Given the description of an element on the screen output the (x, y) to click on. 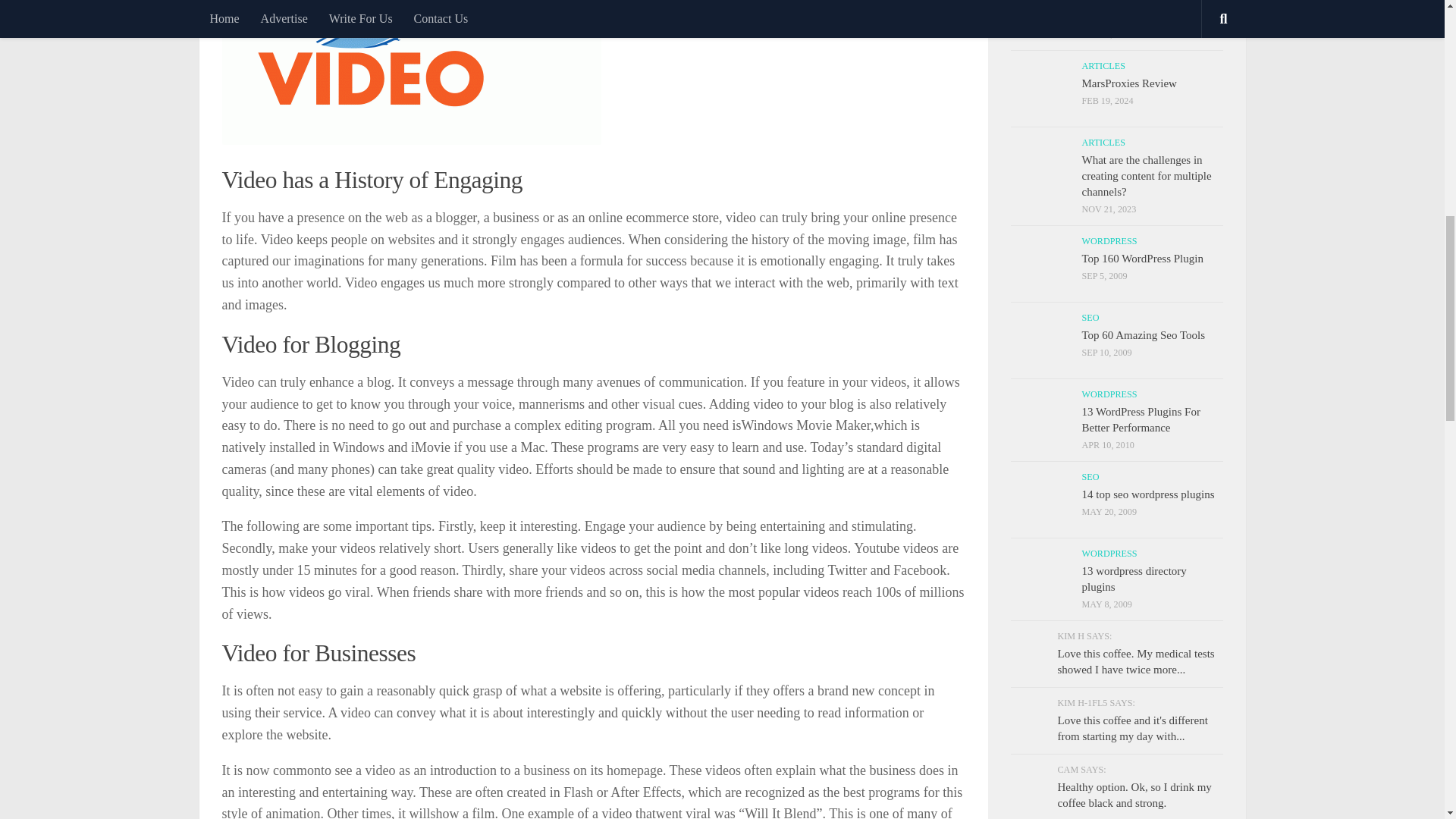
video (410, 72)
